Given the description of an element on the screen output the (x, y) to click on. 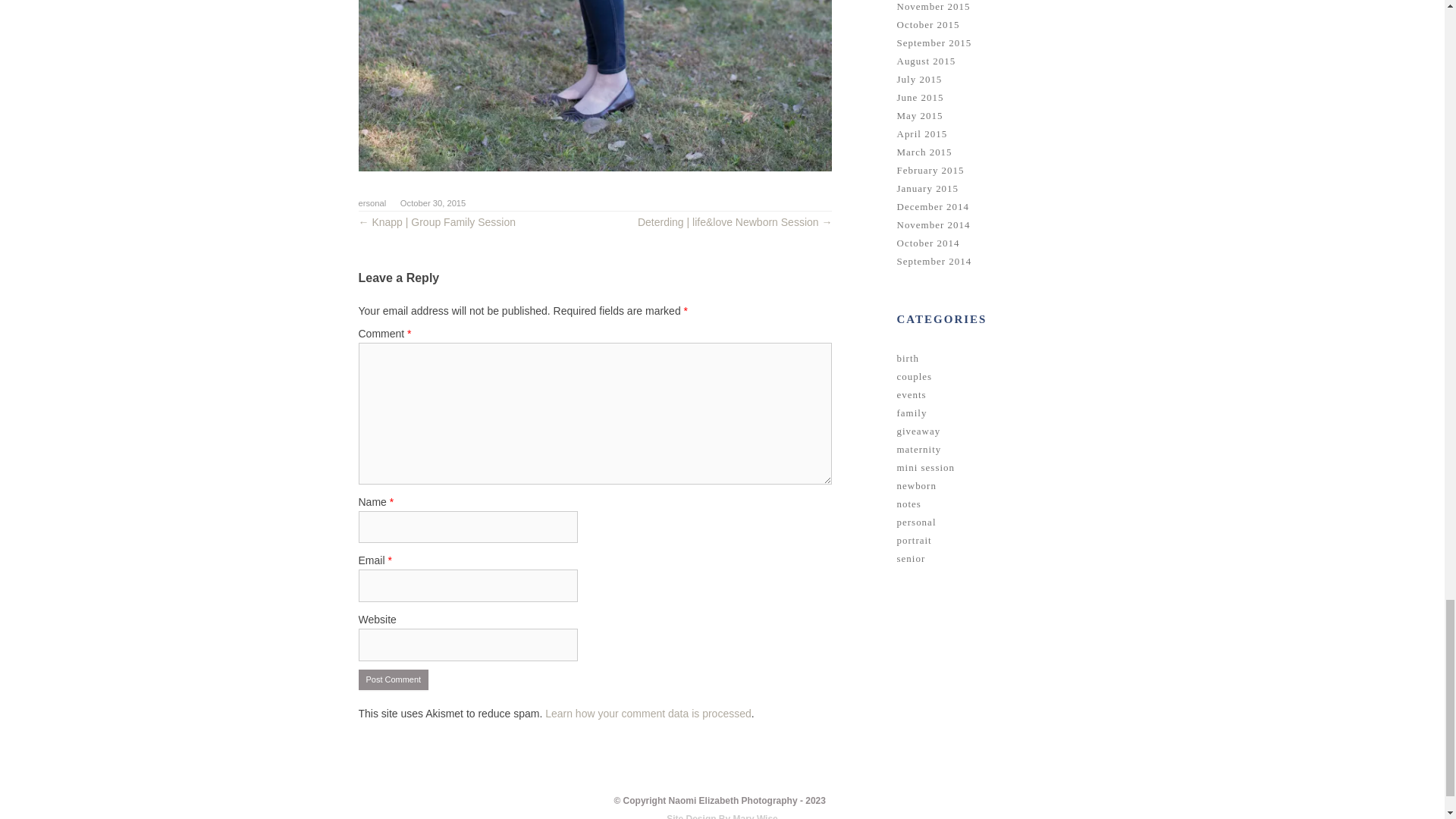
October 30, 2015 (432, 203)
Post Comment (393, 680)
Post Comment (393, 680)
7:18 pm (432, 203)
personal (369, 203)
Learn how your comment data is processed (647, 713)
